Given the description of an element on the screen output the (x, y) to click on. 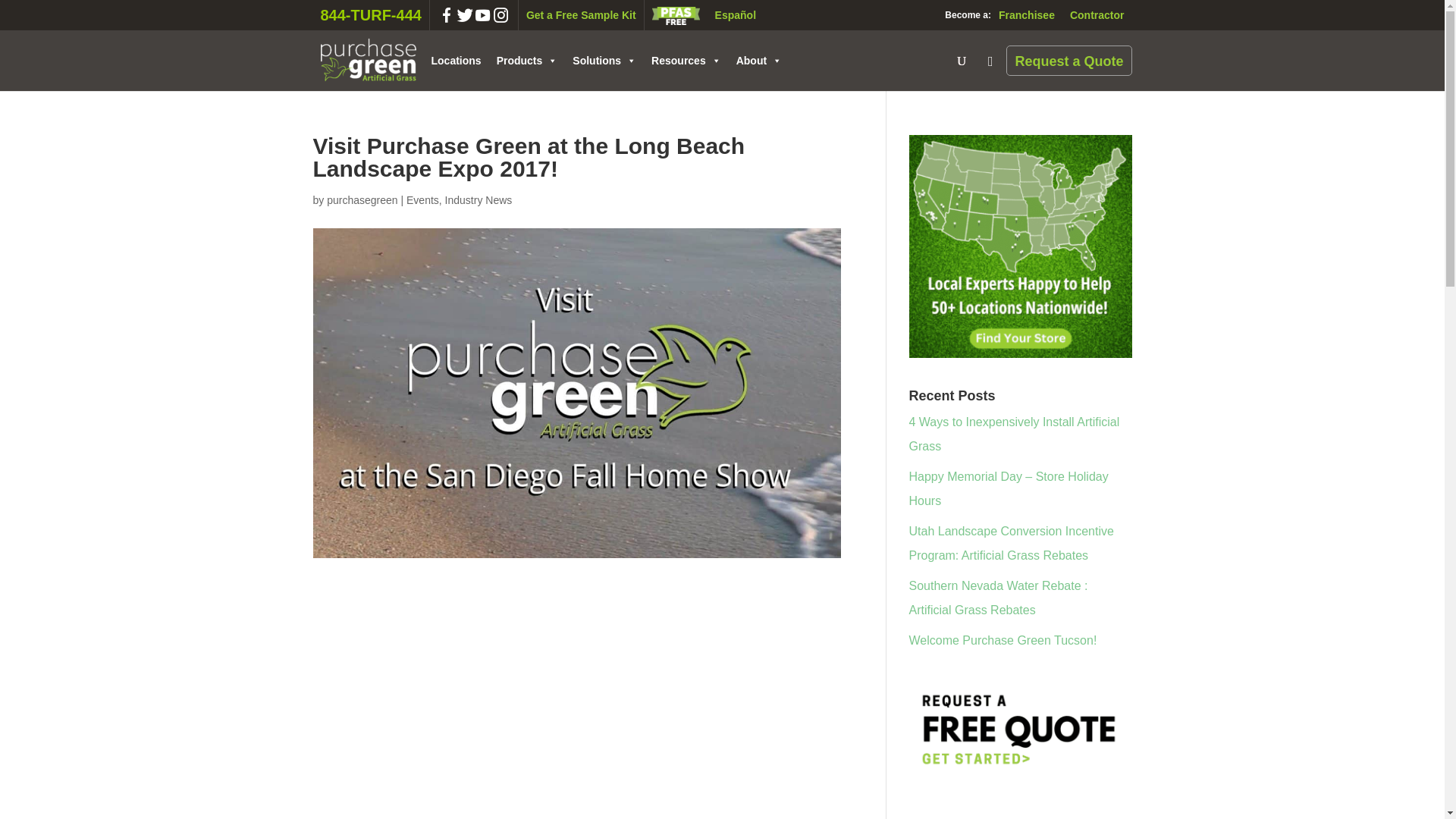
844-TURF-444 (371, 15)
Products (527, 60)
Franchisee (1026, 15)
Locations (455, 60)
Solutions (603, 60)
Posts by purchasegreen (361, 200)
Contractor (1097, 15)
Become a: (964, 15)
Get a Free Sample Kit (581, 15)
